Given the description of an element on the screen output the (x, y) to click on. 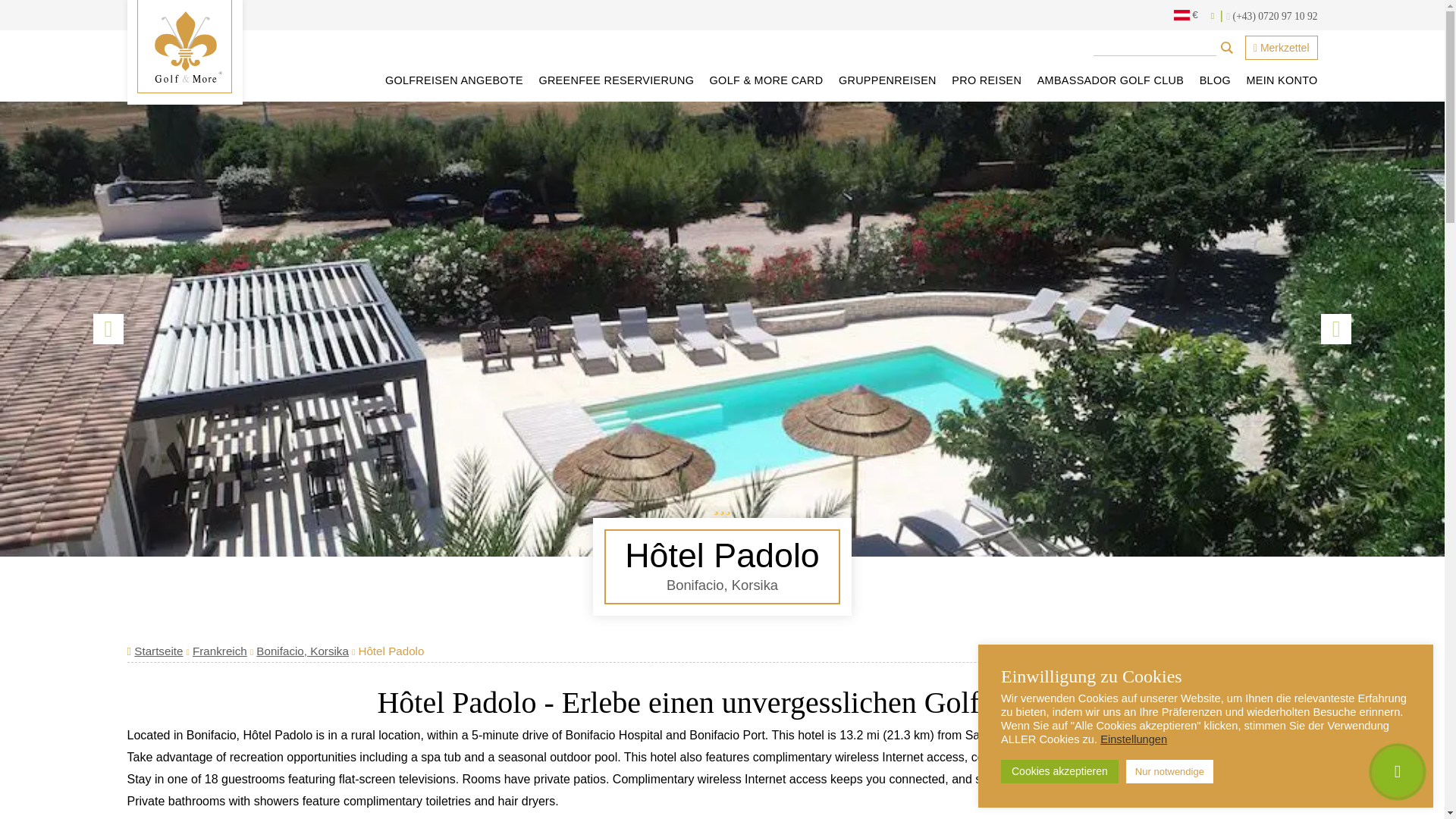
AMBASSADOR GOLF CLUB (1110, 80)
GREENFEE RESERVIERUNG (616, 80)
Sehen Sie unsere Golfreisen Angebote an (454, 80)
Frankreich (219, 651)
GRUPPENREISEN (887, 80)
Startseite (158, 651)
Mehr Infos zur Greenfee Reservierung (616, 80)
GOLFREISEN ANGEBOTE (454, 80)
Merkzettel (1280, 47)
MEIN KONTO (1279, 80)
Bonifacio, Korsika (302, 651)
at (1181, 14)
Infos zu Gruppenreisen anschauen (887, 80)
BLOG (1215, 80)
PRO REISEN (986, 80)
